Given the description of an element on the screen output the (x, y) to click on. 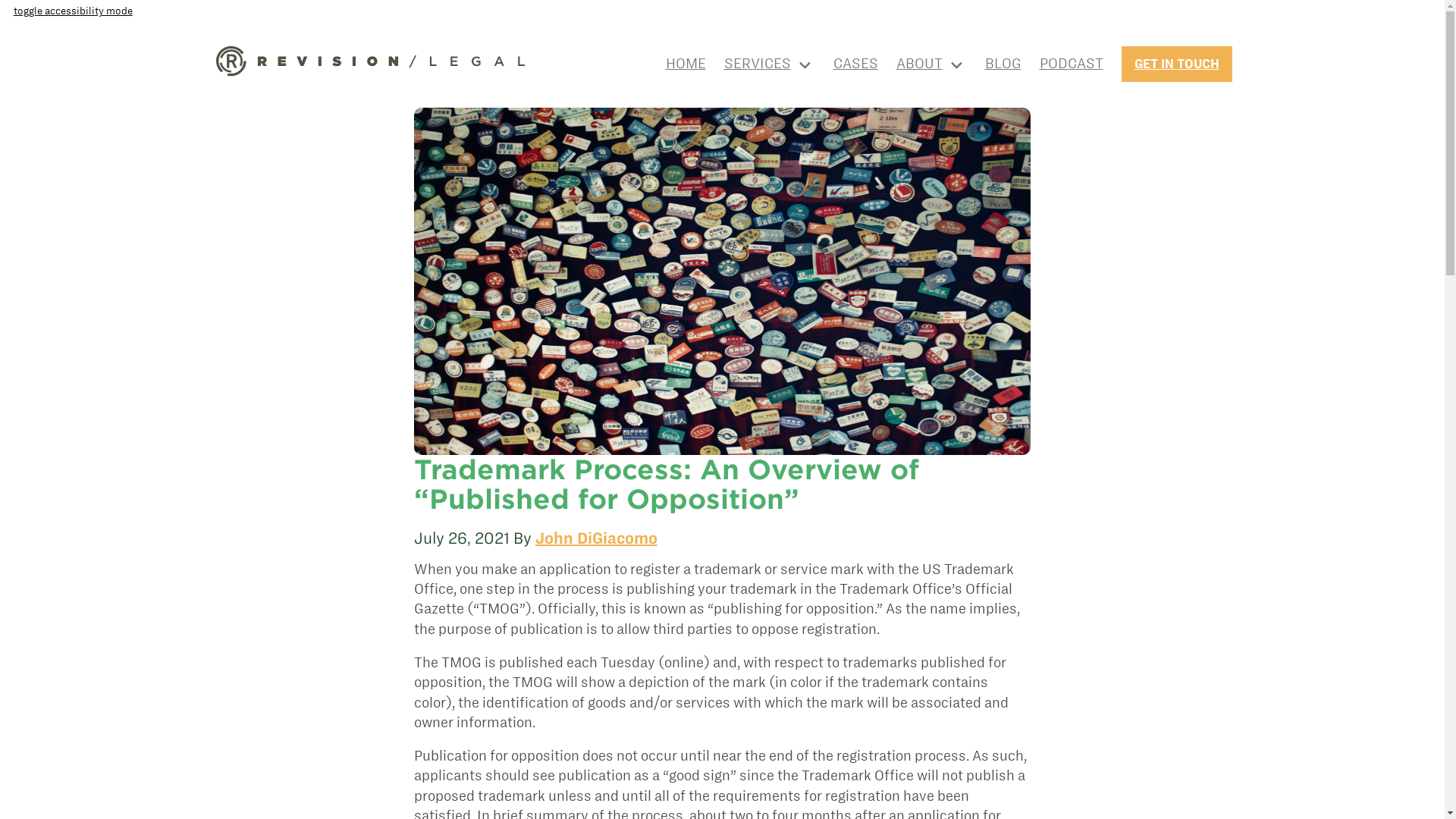
toggle accessibility mode (72, 10)
Home (685, 63)
John DiGiacomo (596, 538)
Podcast (1070, 63)
About (930, 63)
GET IN TOUCH (1176, 63)
SERVICES (769, 63)
ABOUT (930, 63)
BLOG (1002, 63)
Services (769, 63)
PODCAST (1070, 63)
CASES (854, 63)
HOME (685, 63)
Cases (854, 63)
Blog (1002, 63)
